Given the description of an element on the screen output the (x, y) to click on. 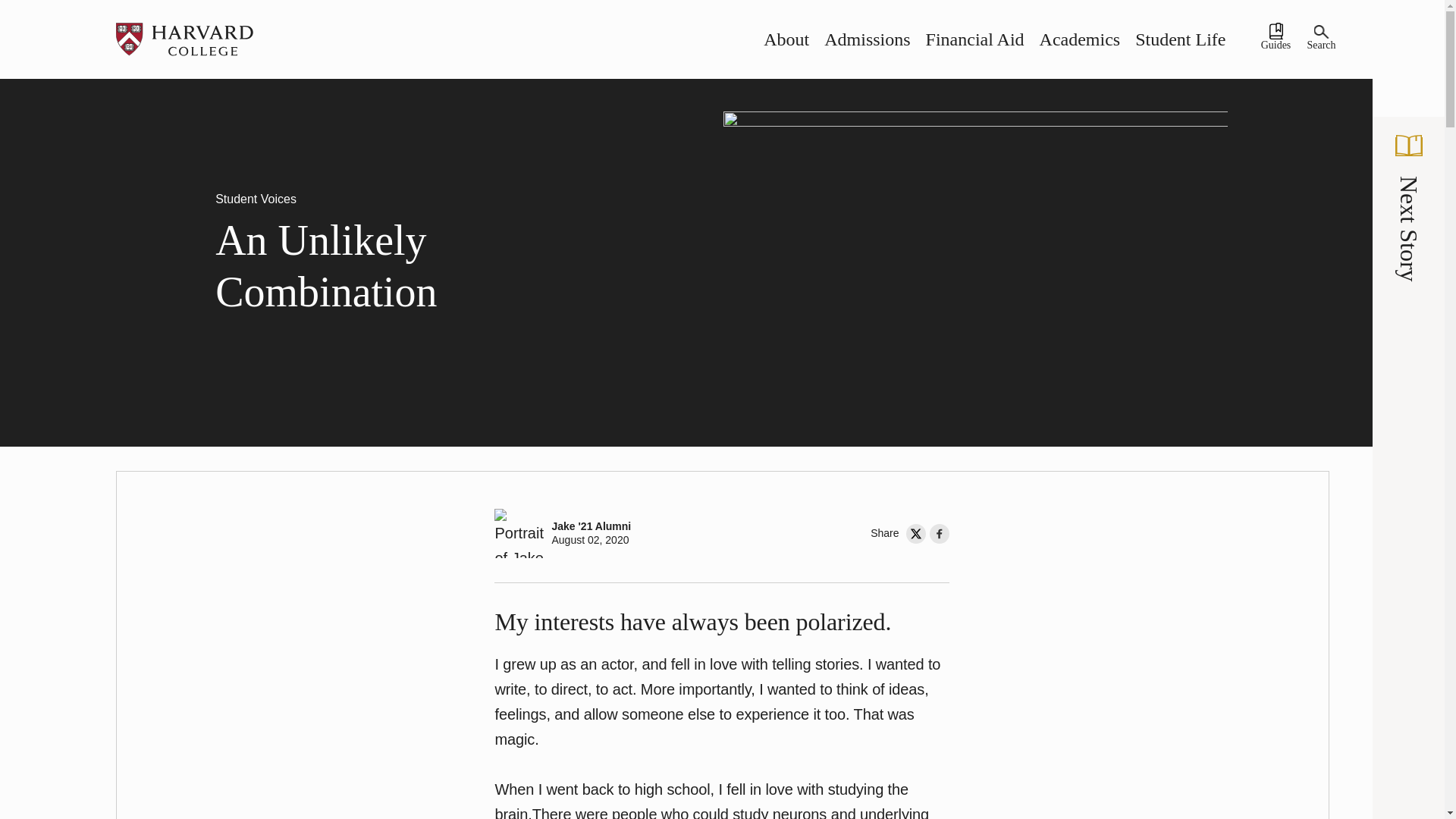
Admissions (867, 39)
Book Icon (1408, 145)
About (785, 39)
